Given the description of an element on the screen output the (x, y) to click on. 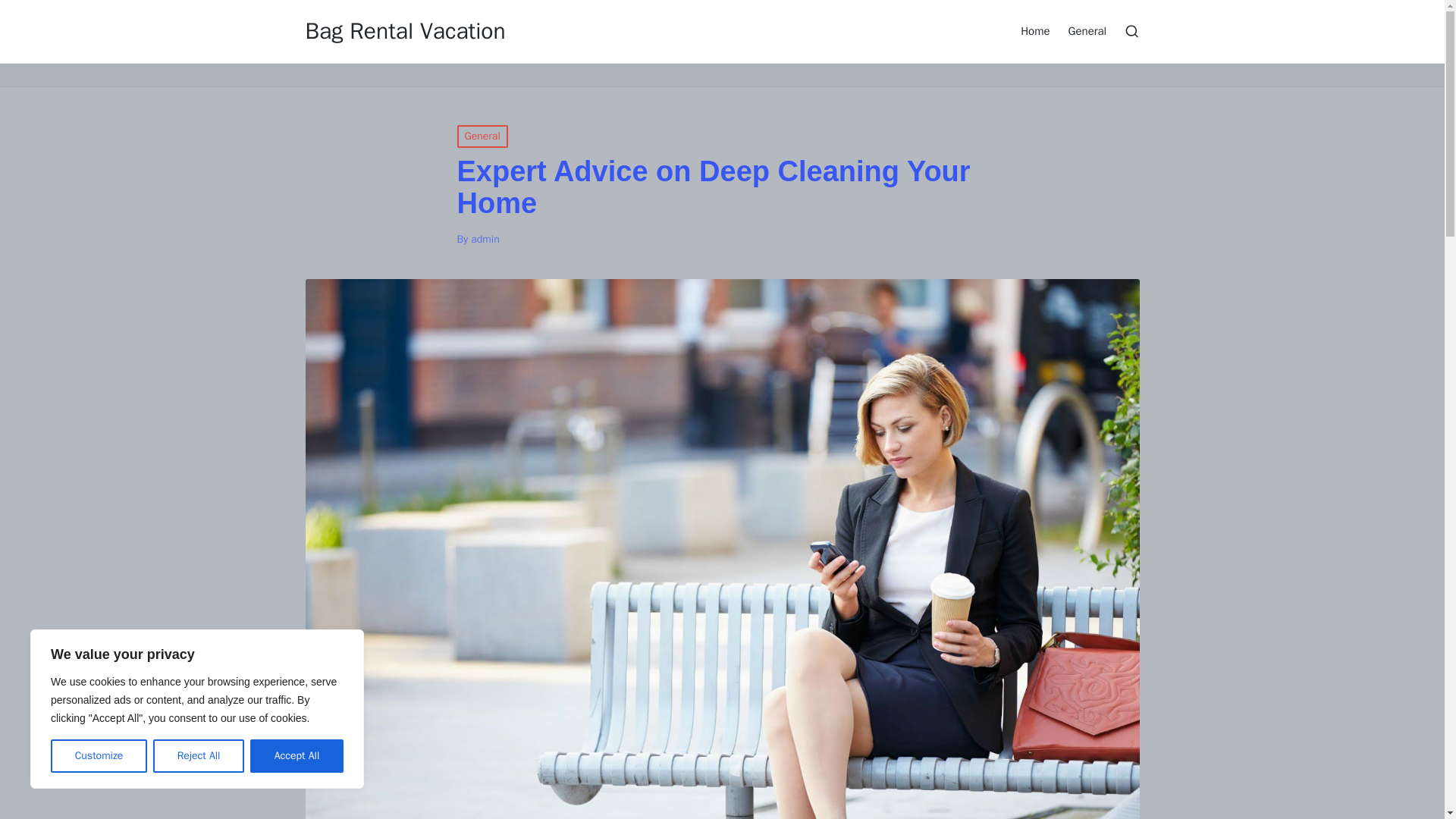
Bag Rental Vacation (404, 31)
Accept All (296, 756)
General (481, 136)
General (1087, 30)
Customize (98, 756)
Home (1034, 30)
View all posts by  (484, 238)
Reject All (198, 756)
admin (484, 238)
